Given the description of an element on the screen output the (x, y) to click on. 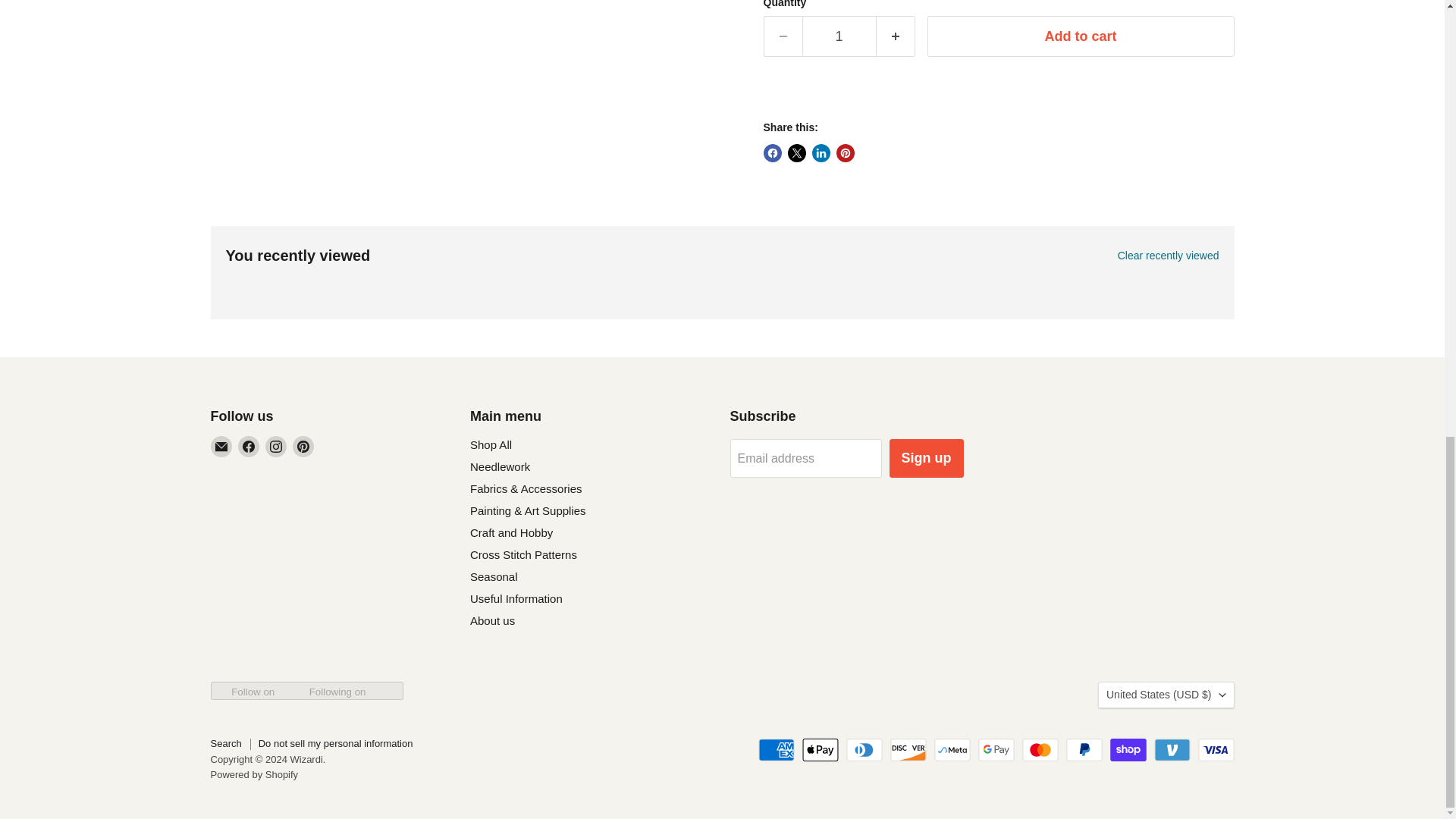
Email (221, 446)
Facebook (248, 446)
Pinterest (303, 446)
1 (839, 36)
Instagram (275, 446)
